Given the description of an element on the screen output the (x, y) to click on. 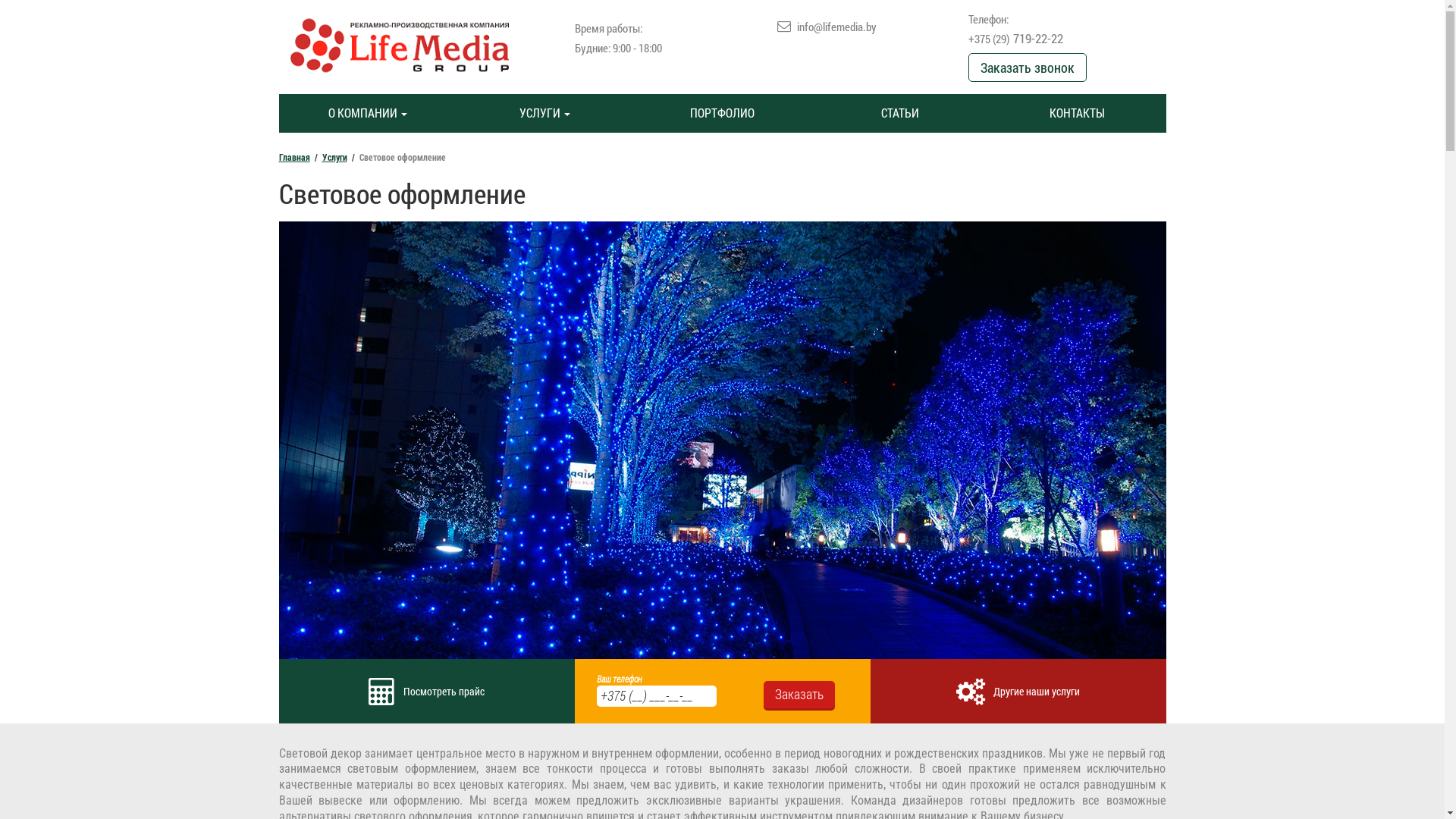
info@lifemedia.by Element type: text (836, 26)
